Given the description of an element on the screen output the (x, y) to click on. 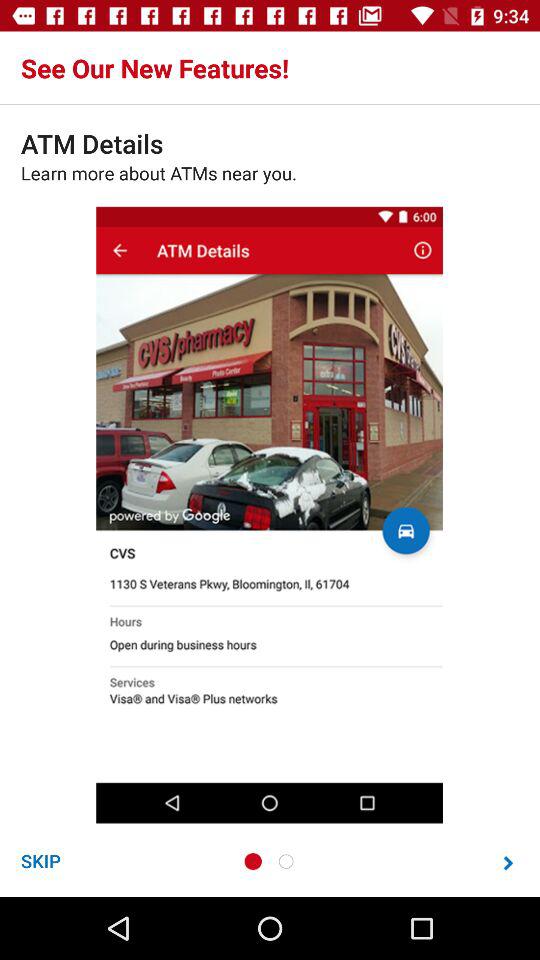
select item at the bottom right corner (508, 862)
